Given the description of an element on the screen output the (x, y) to click on. 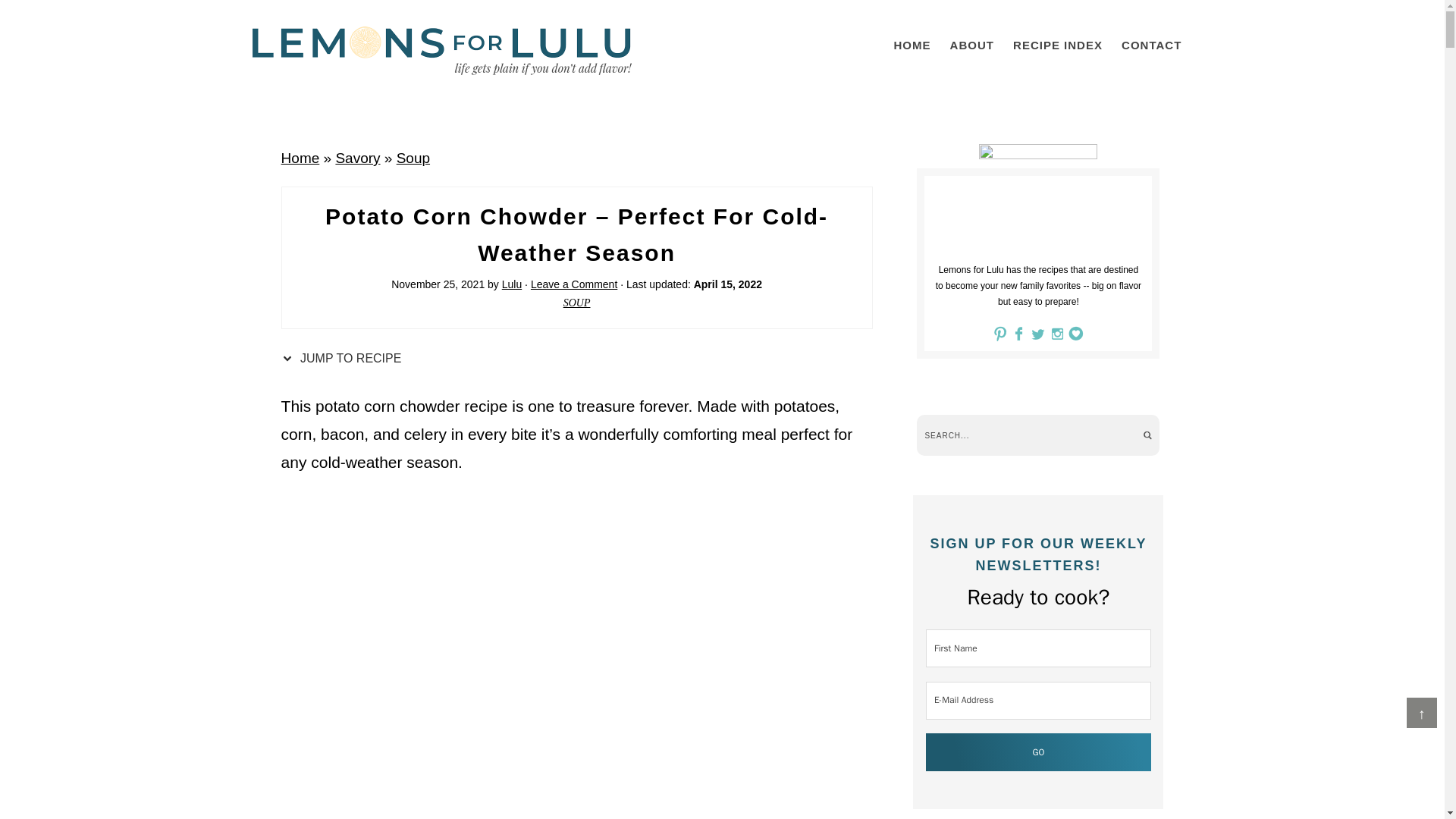
Leave a Comment (574, 284)
JUMP TO RECIPE (345, 358)
Savory (357, 157)
HOME (911, 44)
CONTACT (1151, 44)
ABOUT (971, 44)
Soup (412, 157)
Home (300, 157)
LEMONSFORLULU.COM (440, 50)
SOUP (577, 302)
RECIPE INDEX (1057, 44)
Go (1038, 752)
Lulu (511, 284)
